Given the description of an element on the screen output the (x, y) to click on. 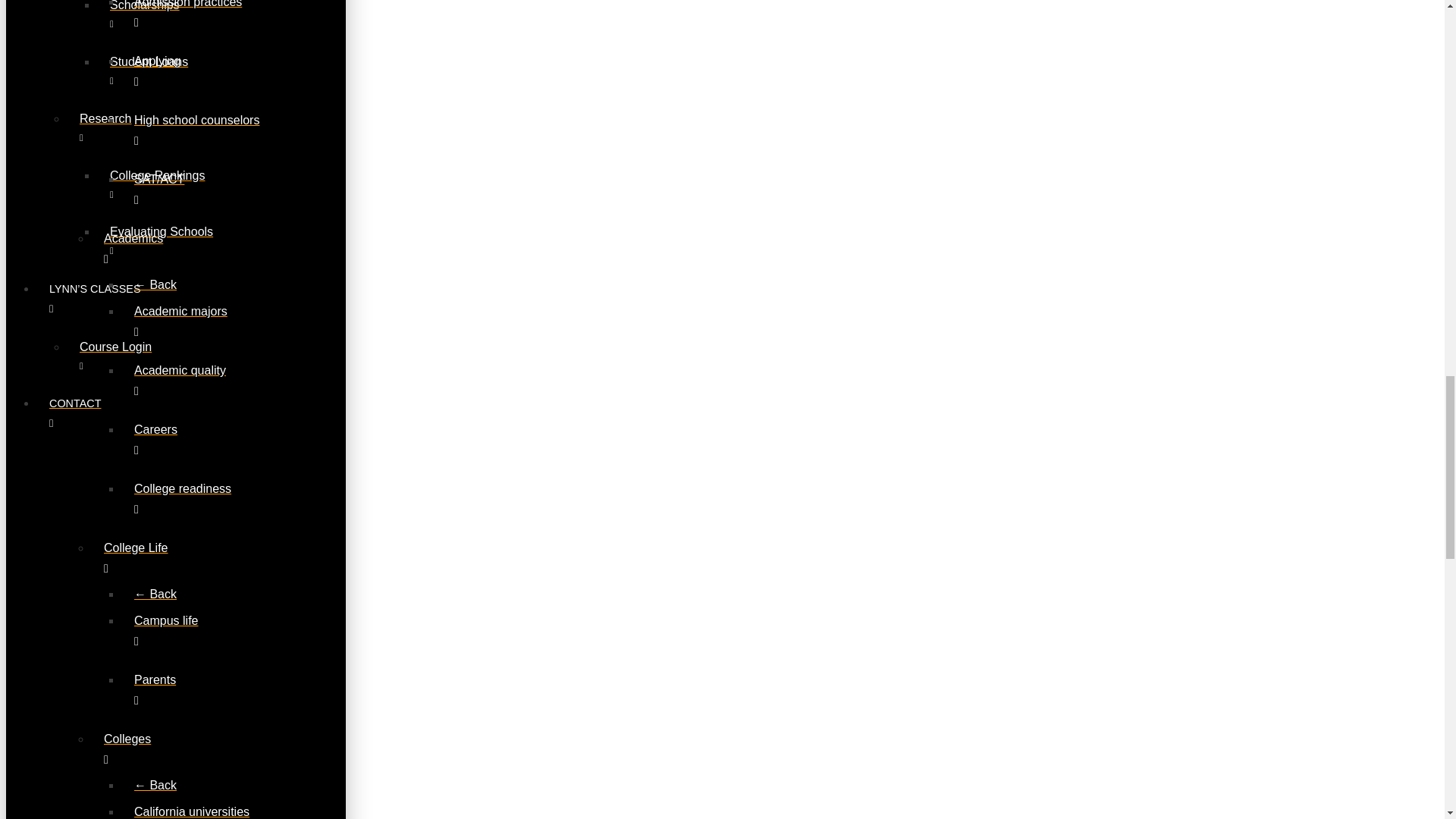
College Rankings (181, 184)
Research (150, 127)
Scholarships (181, 21)
Course Login (150, 355)
Evaluating Schools (181, 240)
Student Loans (181, 70)
CONTACT (551, 412)
